Given the description of an element on the screen output the (x, y) to click on. 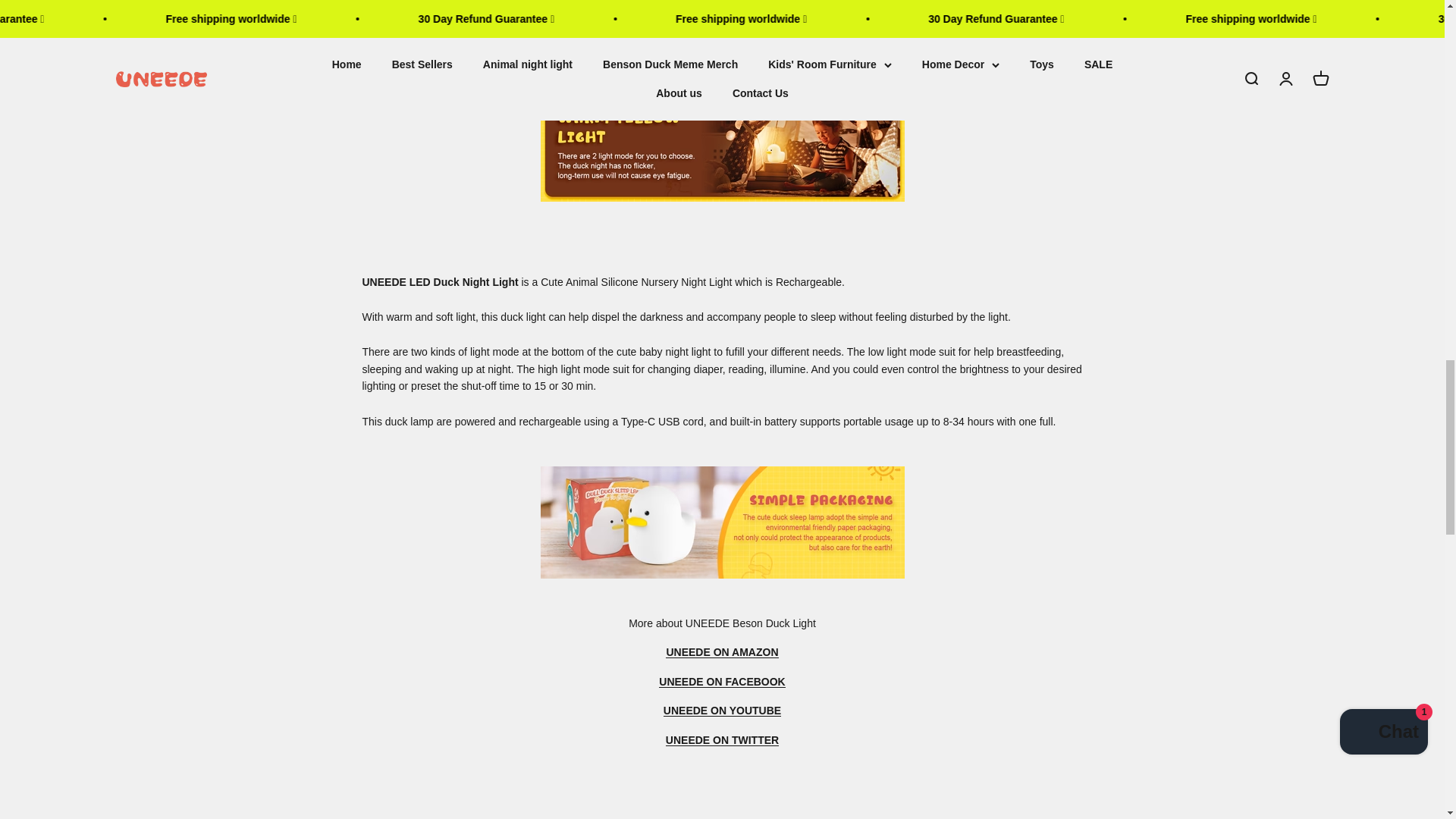
UNEEDE BENSON DUCK ON TWITTER (721, 739)
UNEEDE BENSON DUCK ON AMAZON  US (721, 652)
UNEEDE BENSON DUCK LIGHT ON FACEBOOK (721, 681)
UNEEDE BENSON DUCK LIGHT ON YOUTUBE (721, 710)
